Given the description of an element on the screen output the (x, y) to click on. 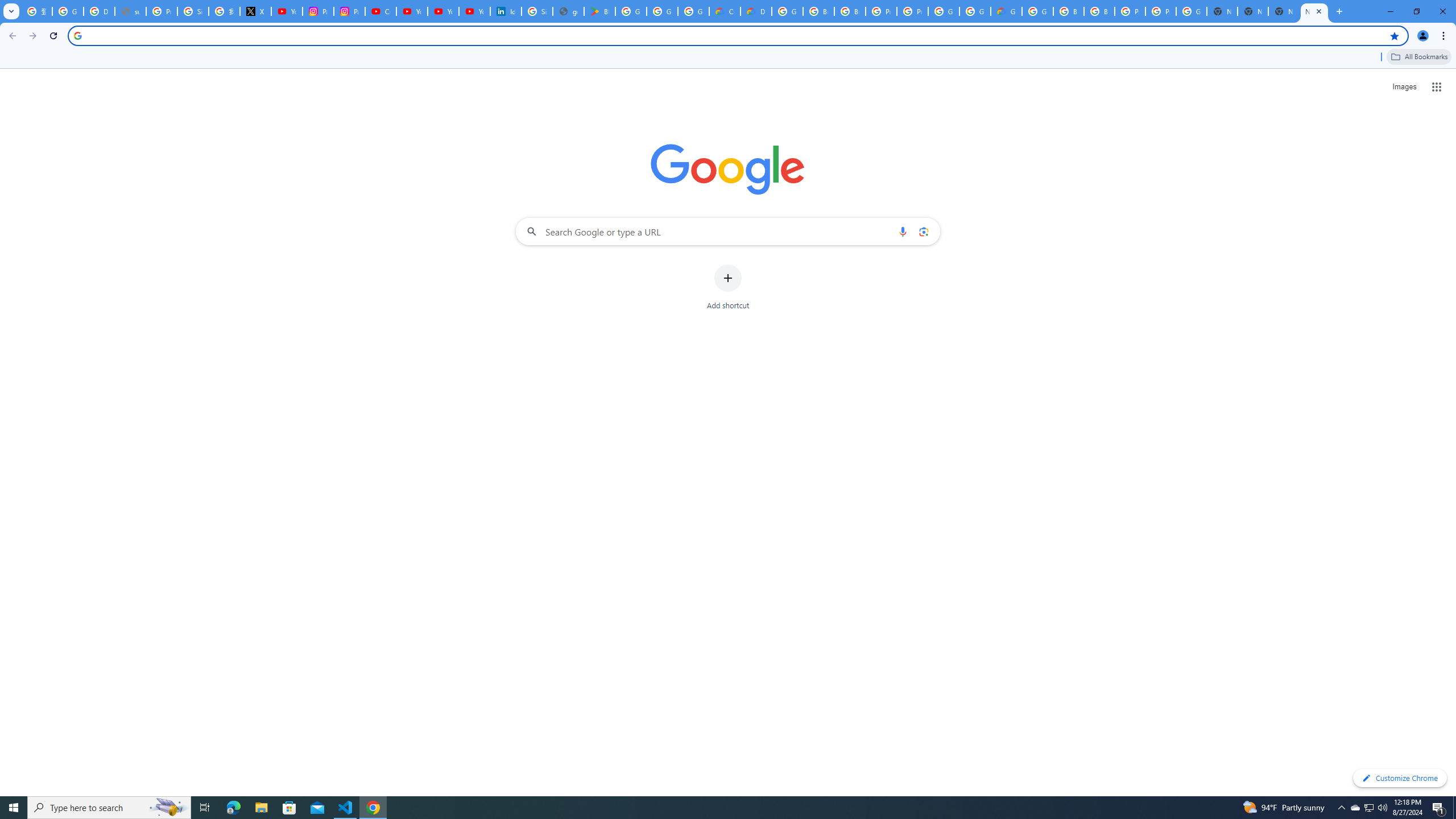
Google Cloud Platform (974, 11)
Google Cloud Platform (943, 11)
Search Google or type a URL (727, 230)
YouTube Culture & Trends - YouTube Top 10, 2021 (443, 11)
